Given the description of an element on the screen output the (x, y) to click on. 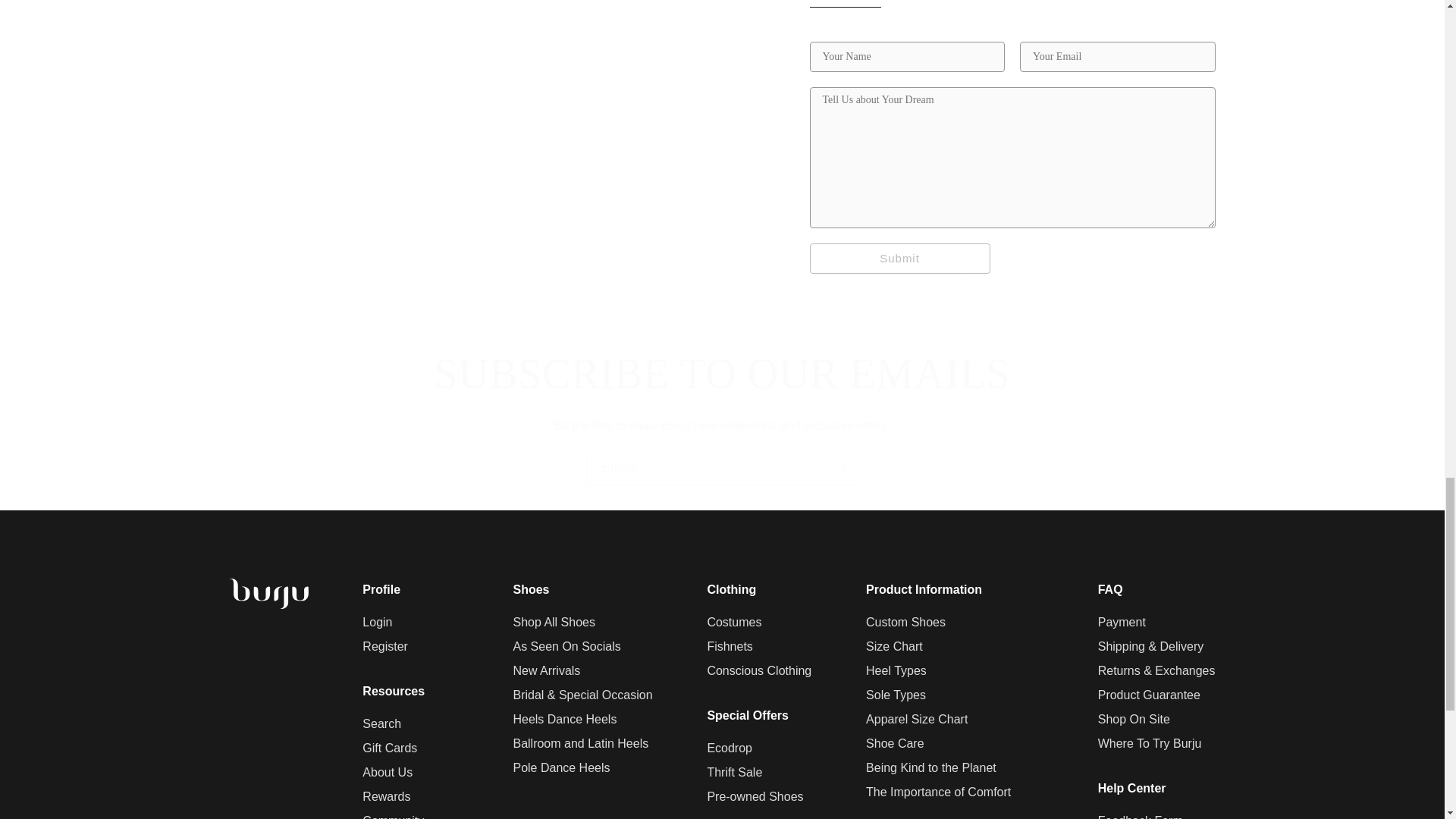
SUBSCRIBE TO OUR EMAILS (721, 374)
Email (722, 468)
